Given the description of an element on the screen output the (x, y) to click on. 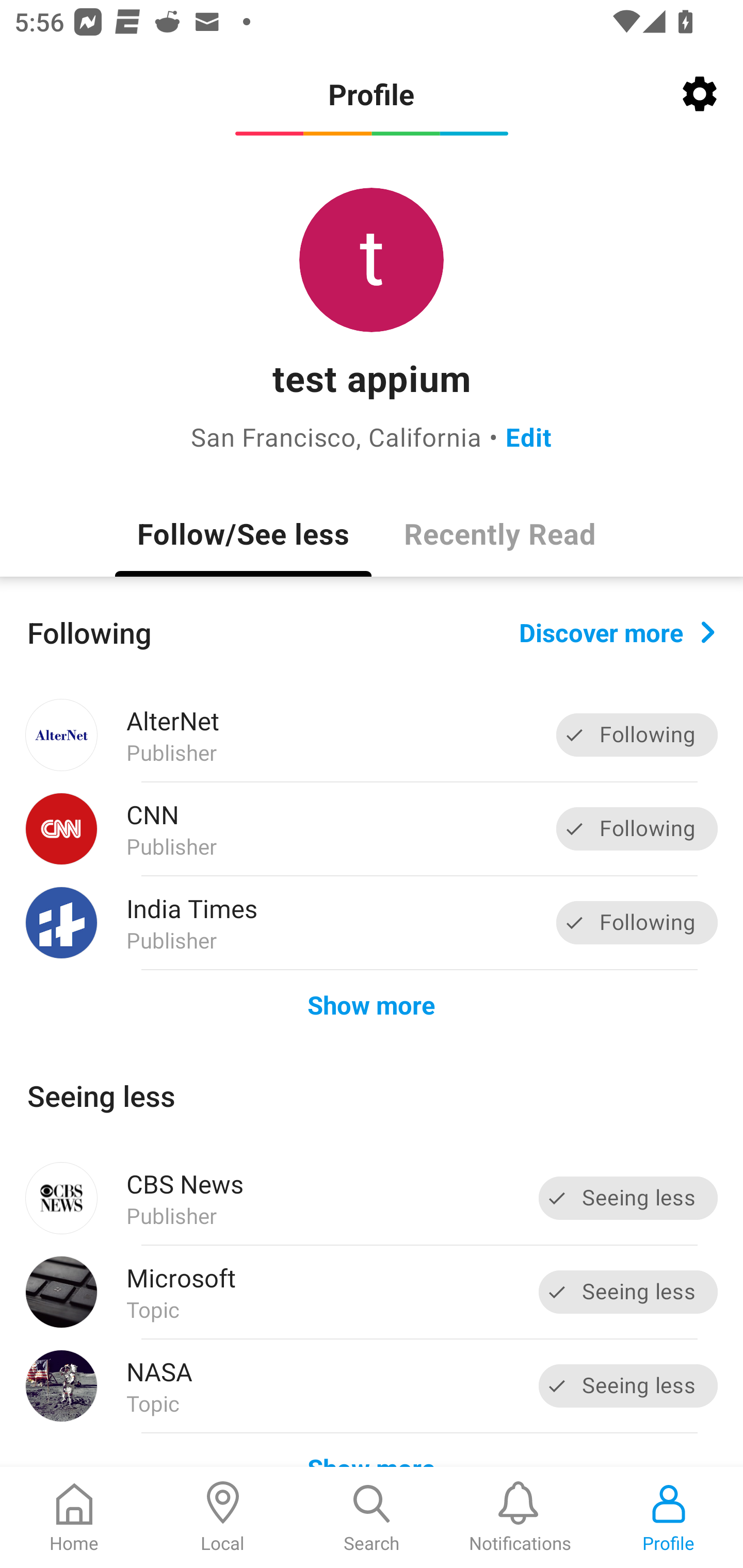
Settings (699, 93)
Edit (528, 436)
Recently Read (499, 533)
Discover more (617, 631)
AlterNet Publisher Following (371, 735)
Following (636, 735)
CNN Publisher Following (371, 829)
Following (636, 828)
India Times Publisher Following (371, 922)
Following (636, 922)
Show more (371, 1004)
CBS News Publisher Seeing less (371, 1197)
Seeing less (627, 1197)
Microsoft Topic Seeing less (371, 1291)
Seeing less (627, 1291)
NASA Topic Seeing less (371, 1386)
Seeing less (627, 1386)
Home (74, 1517)
Local (222, 1517)
Search (371, 1517)
Notifications (519, 1517)
